Given the description of an element on the screen output the (x, y) to click on. 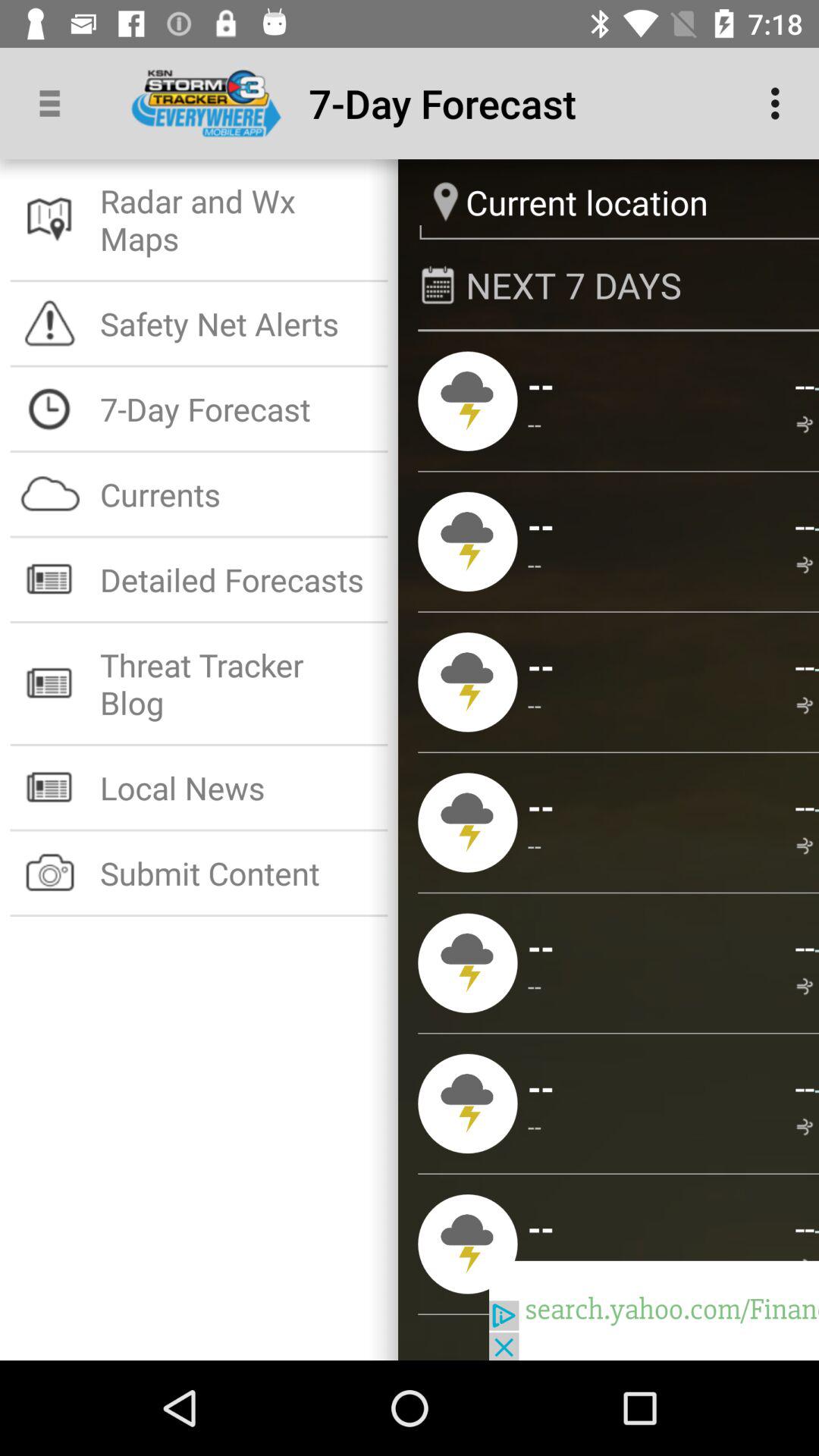
tap the -- (816, 1088)
